Given the description of an element on the screen output the (x, y) to click on. 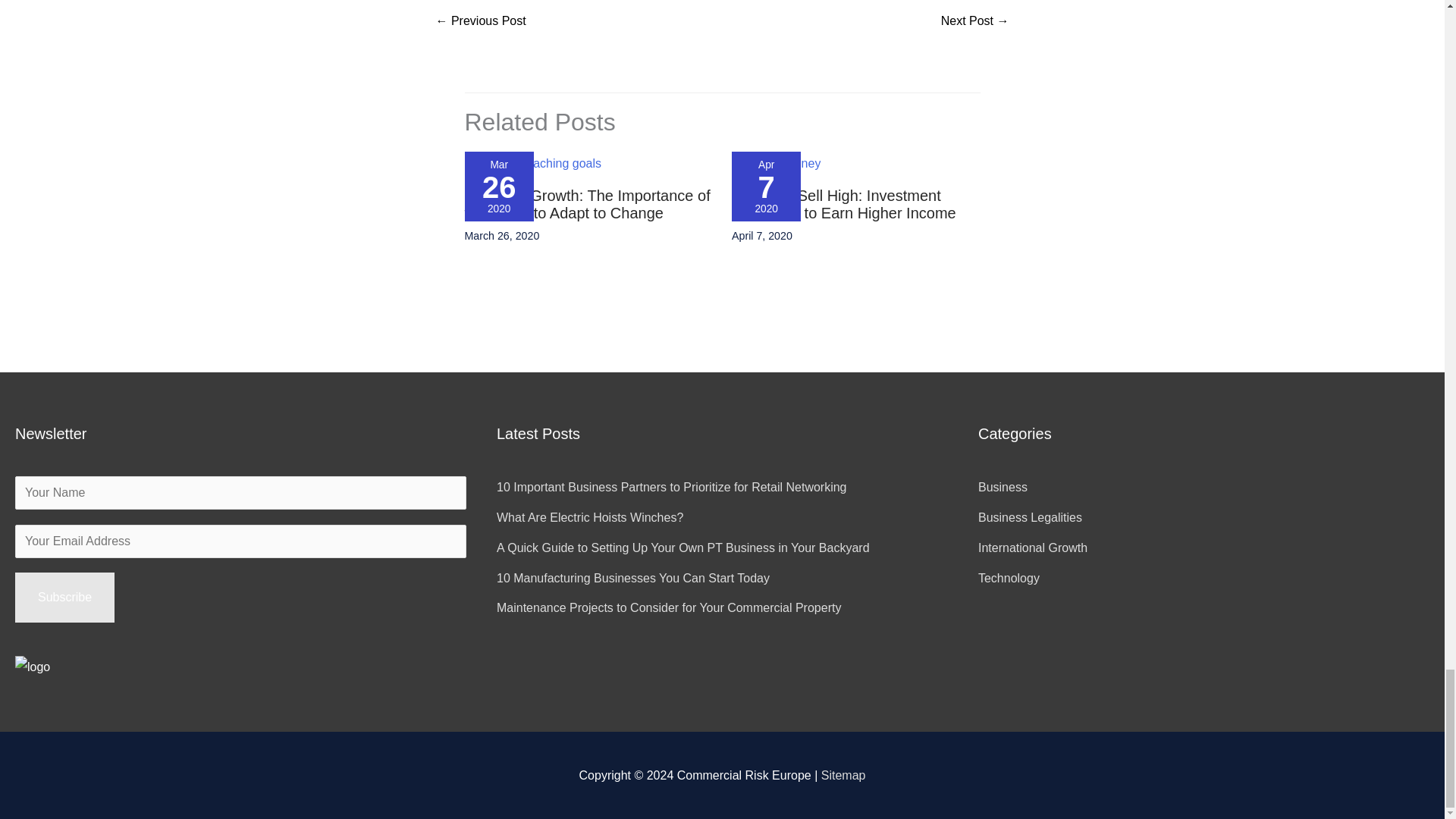
Business (1002, 486)
Business Legalities (1029, 517)
Guide to Building Your Commercial Construction Company (974, 22)
Technology (1008, 577)
Sitemap (843, 775)
Subscribe (64, 597)
